Given the description of an element on the screen output the (x, y) to click on. 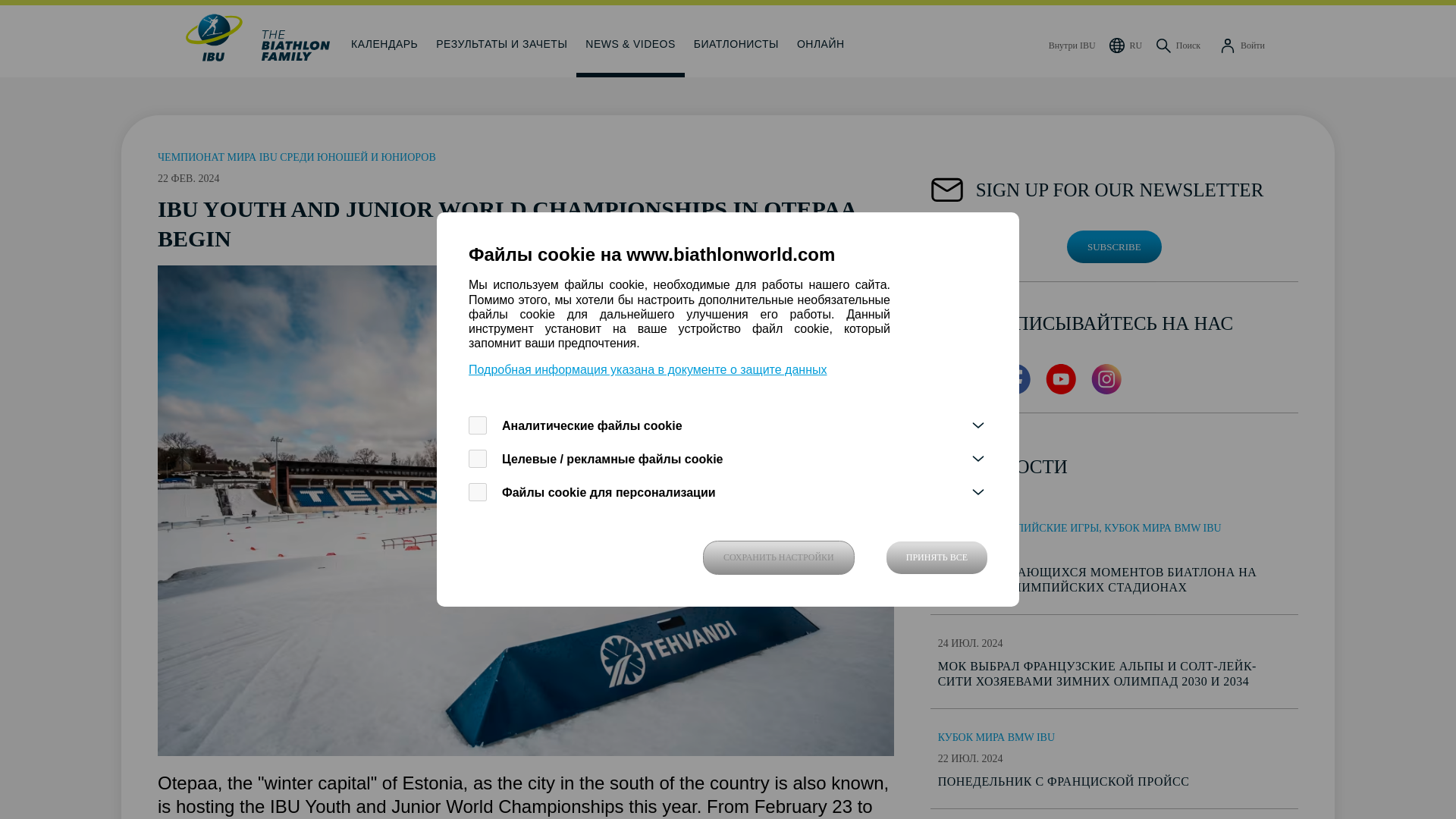
false (477, 492)
false (477, 425)
false (477, 458)
SUBSCRIBE (1114, 246)
